Given the description of an element on the screen output the (x, y) to click on. 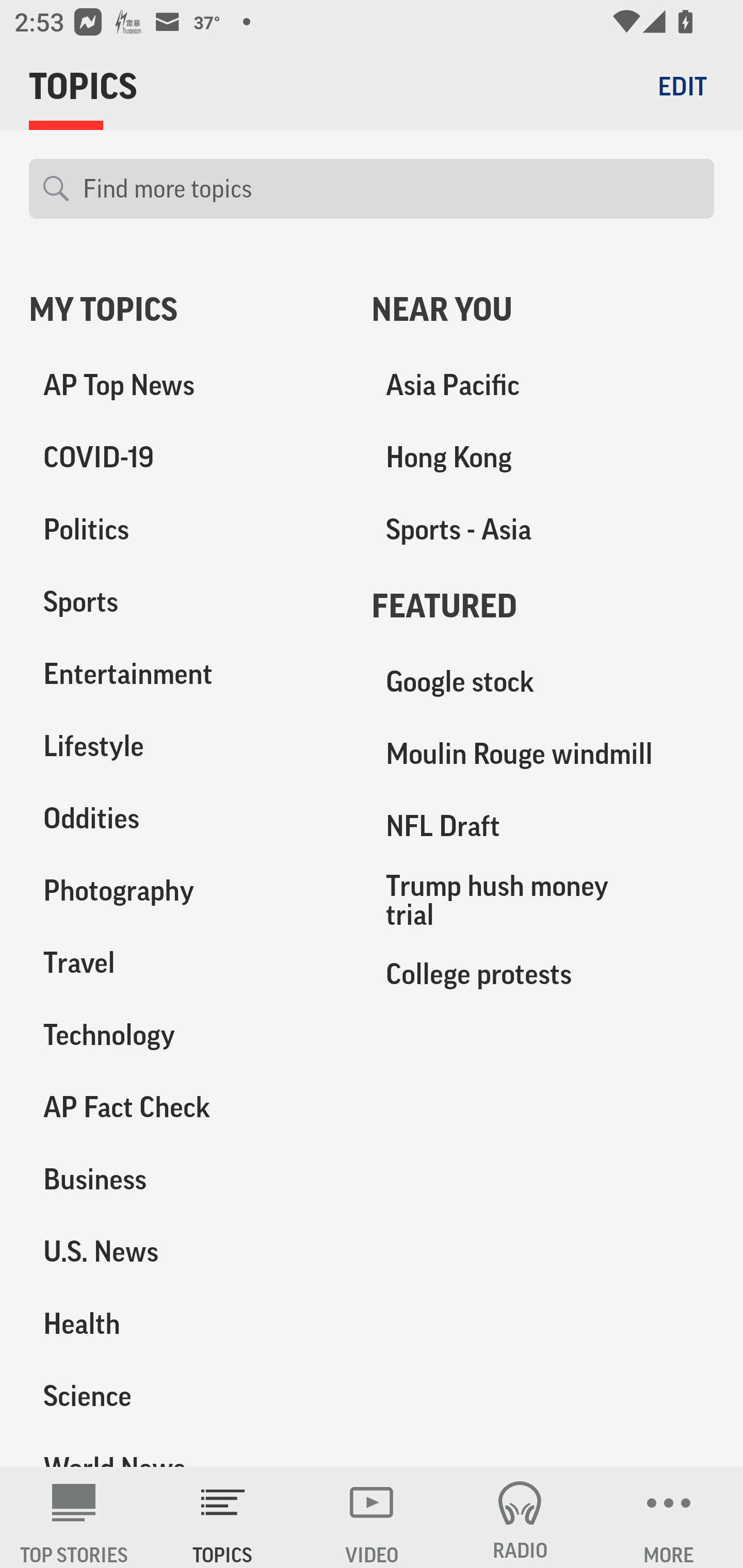
EDIT (682, 86)
Find more topics (391, 188)
AP Top News (185, 385)
Asia Pacific (542, 385)
COVID-19 (185, 457)
Hong Kong (542, 457)
Politics (185, 529)
Sports - Asia (542, 529)
Sports (185, 602)
Entertainment (185, 674)
Google stock (542, 682)
Lifestyle (185, 746)
Moulin Rouge windmill (542, 754)
Oddities (185, 818)
NFL Draft (542, 826)
Photography (185, 890)
Trump hush money trial (542, 899)
Travel (185, 962)
College protests (542, 973)
Technology (185, 1034)
AP Fact Check (185, 1106)
Business (185, 1179)
U.S. News (185, 1251)
Health (185, 1323)
Science (185, 1395)
AP News TOP STORIES (74, 1517)
TOPICS (222, 1517)
VIDEO (371, 1517)
RADIO (519, 1517)
MORE (668, 1517)
